Given the description of an element on the screen output the (x, y) to click on. 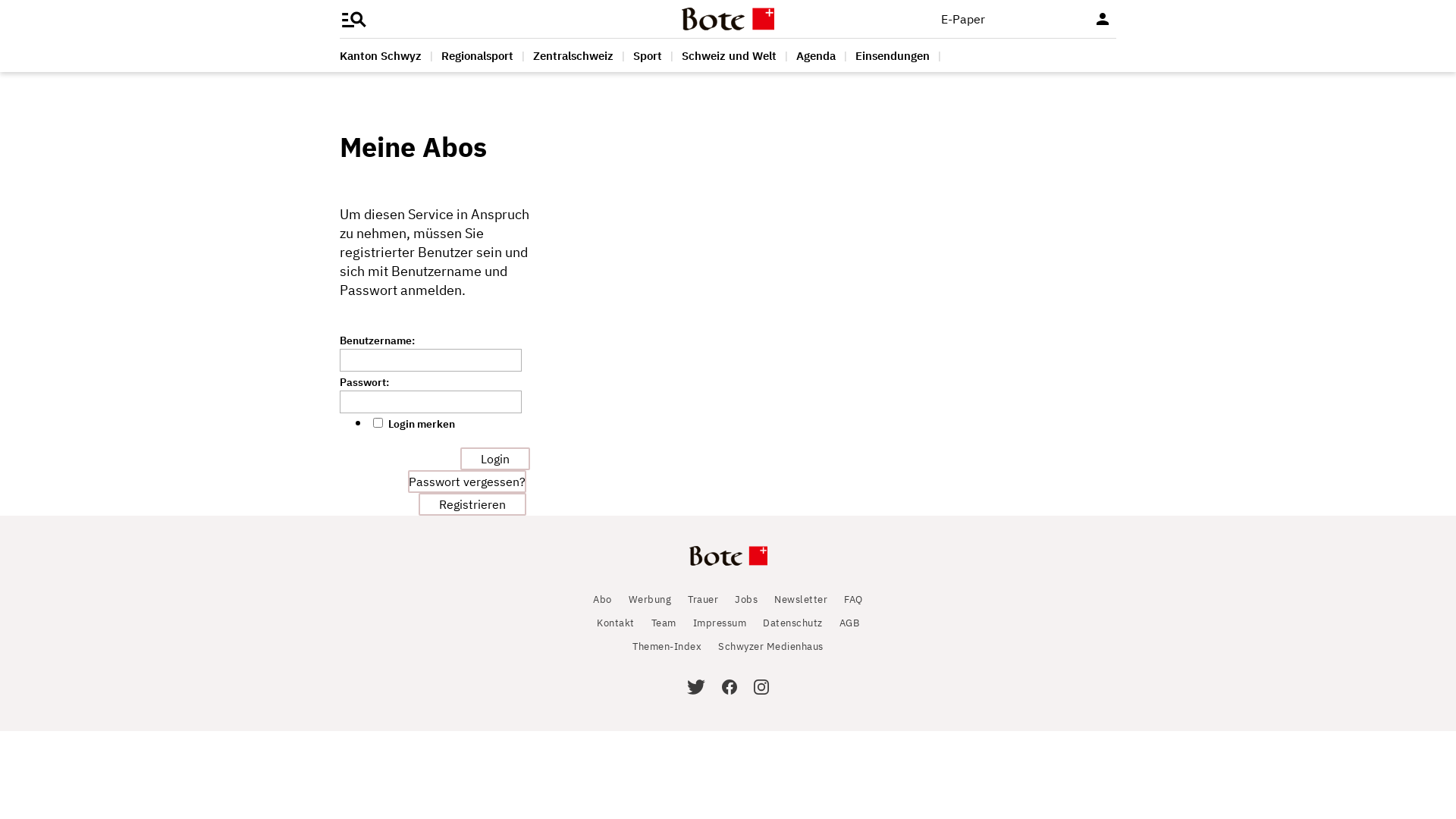
Abo Element type: text (602, 599)
Kontakt Element type: text (615, 622)
Impressum Element type: text (719, 622)
Themen-Index Element type: text (666, 646)
Zentralschweiz Element type: text (573, 54)
Registrieren Element type: text (474, 503)
Werbung Element type: text (649, 599)
Newsletter Element type: text (800, 599)
Datenschutz Element type: text (792, 622)
Kanton Schwyz Element type: text (380, 54)
Schwyzer Medienhaus Element type: text (770, 646)
Agenda Element type: text (815, 54)
FAQ Element type: text (853, 599)
Schweiz und Welt Element type: text (728, 54)
Einsendungen Element type: text (892, 54)
Jobs Element type: text (745, 599)
Bote der Urschweiz AG Element type: hover (727, 18)
Sport Element type: text (647, 54)
Team Element type: text (662, 622)
Bote der Urschweiz AG Element type: hover (727, 565)
E-Paper Element type: text (963, 18)
Regionalsport Element type: text (477, 54)
AGB Element type: text (848, 622)
Passwort vergessen? Element type: text (466, 481)
Login Element type: text (495, 458)
An-/Abmelden Element type: hover (1102, 18)
Trauer Element type: text (702, 599)
